Given the description of an element on the screen output the (x, y) to click on. 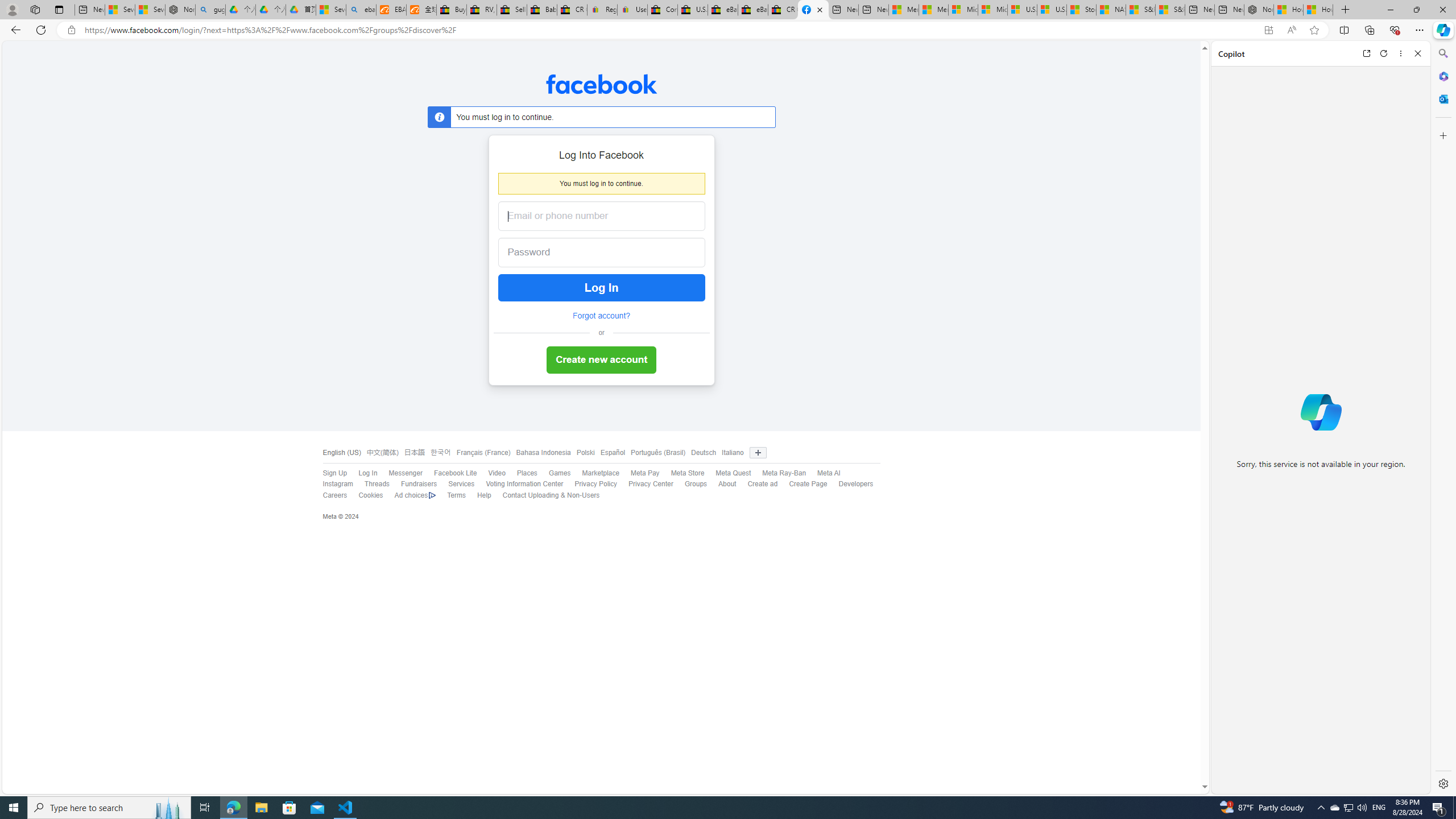
Meta Ray-Ban (778, 473)
Meta AI (823, 473)
Messenger (405, 473)
Places (521, 473)
About (726, 483)
Cookies (370, 494)
Groups (689, 484)
Sell worldwide with eBay (511, 9)
Voting Information Center (518, 484)
Careers (334, 494)
Polski (582, 452)
Create Page (808, 483)
